Given the description of an element on the screen output the (x, y) to click on. 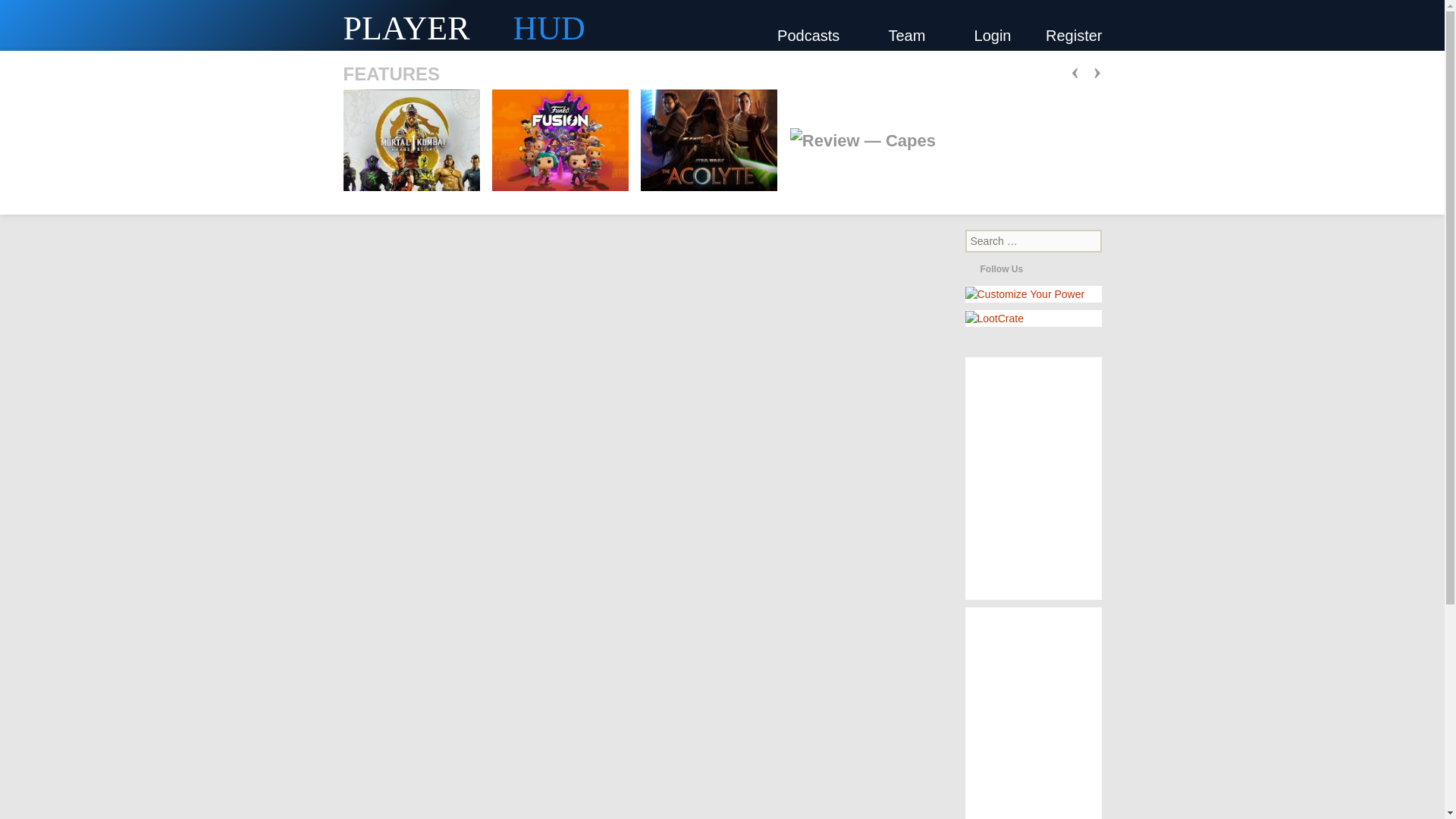
Login (992, 35)
Register (1073, 35)
Team (912, 35)
Player HUD (227, 25)
Login (992, 35)
Register (1073, 35)
Podcasts (815, 35)
